Given the description of an element on the screen output the (x, y) to click on. 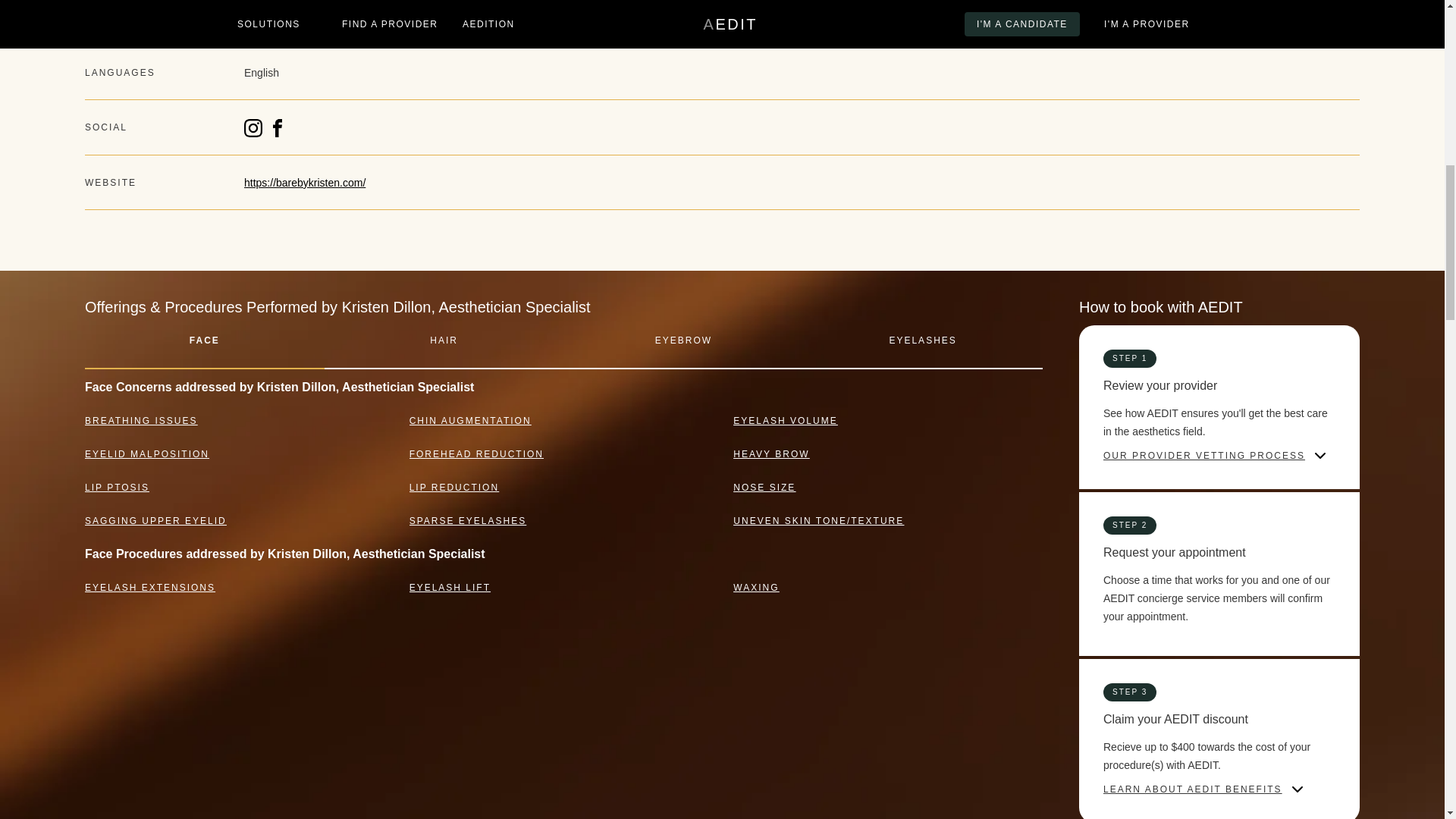
SPARSE EYELASHES (468, 520)
EYELID MALPOSITION (146, 453)
EYELASH EXTENSIONS (149, 587)
BREATHING ISSUES (140, 420)
NOSE SIZE (763, 487)
SAGGING UPPER EYELID (155, 520)
FOREHEAD REDUCTION (476, 453)
WAXING (755, 587)
CHIN AUGMENTATION (470, 420)
EYELASH LIFT (449, 587)
EYELASH VOLUME (785, 420)
LIP REDUCTION (454, 487)
LIP PTOSIS (116, 487)
HEAVY BROW (771, 453)
